Given the description of an element on the screen output the (x, y) to click on. 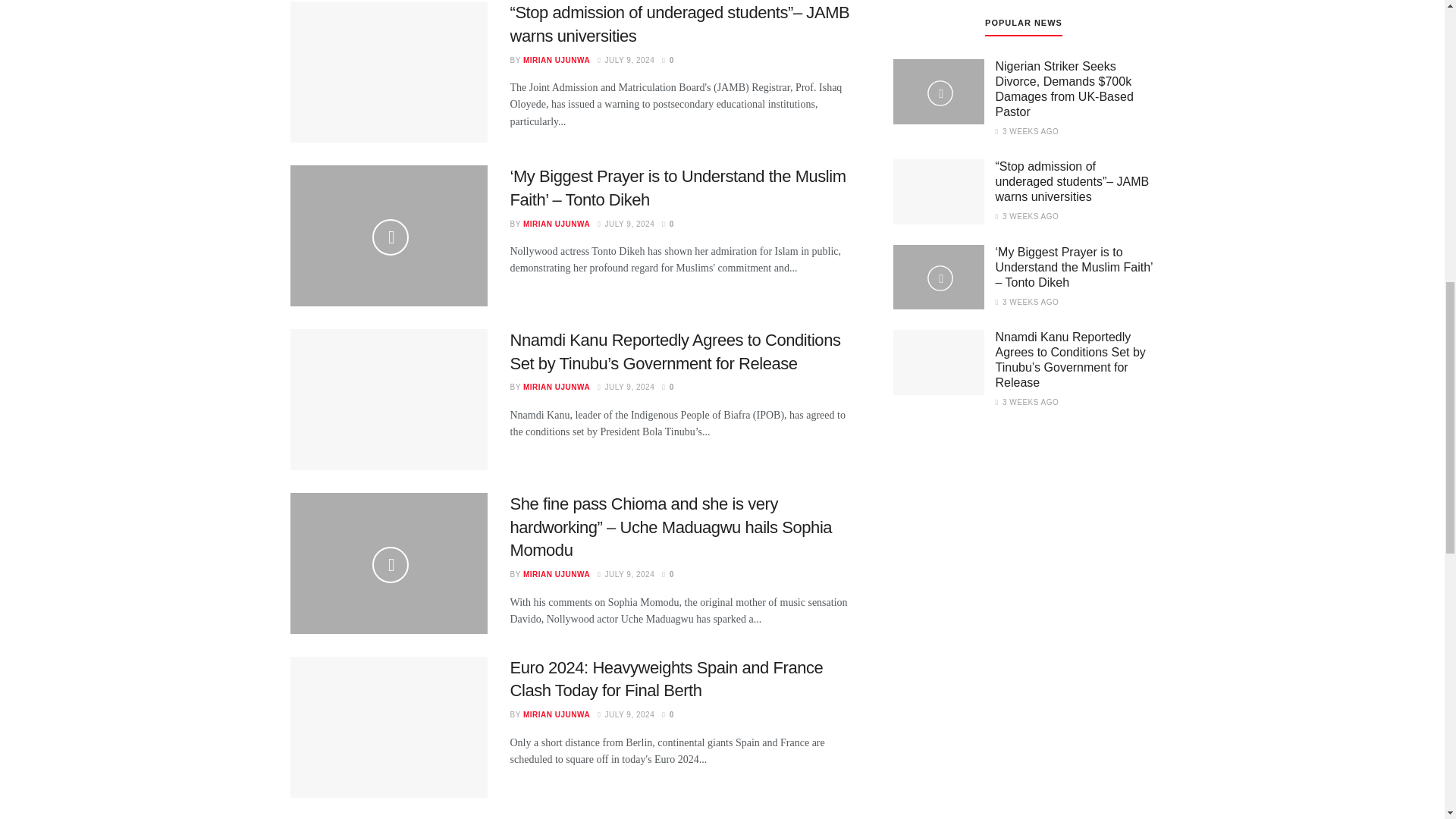
MIRIAN UJUNWA (555, 387)
MIRIAN UJUNWA (555, 224)
MIRIAN UJUNWA (555, 60)
0 (668, 387)
0 (668, 224)
JULY 9, 2024 (624, 224)
0 (668, 60)
JULY 9, 2024 (624, 387)
JULY 9, 2024 (624, 60)
